Given the description of an element on the screen output the (x, y) to click on. 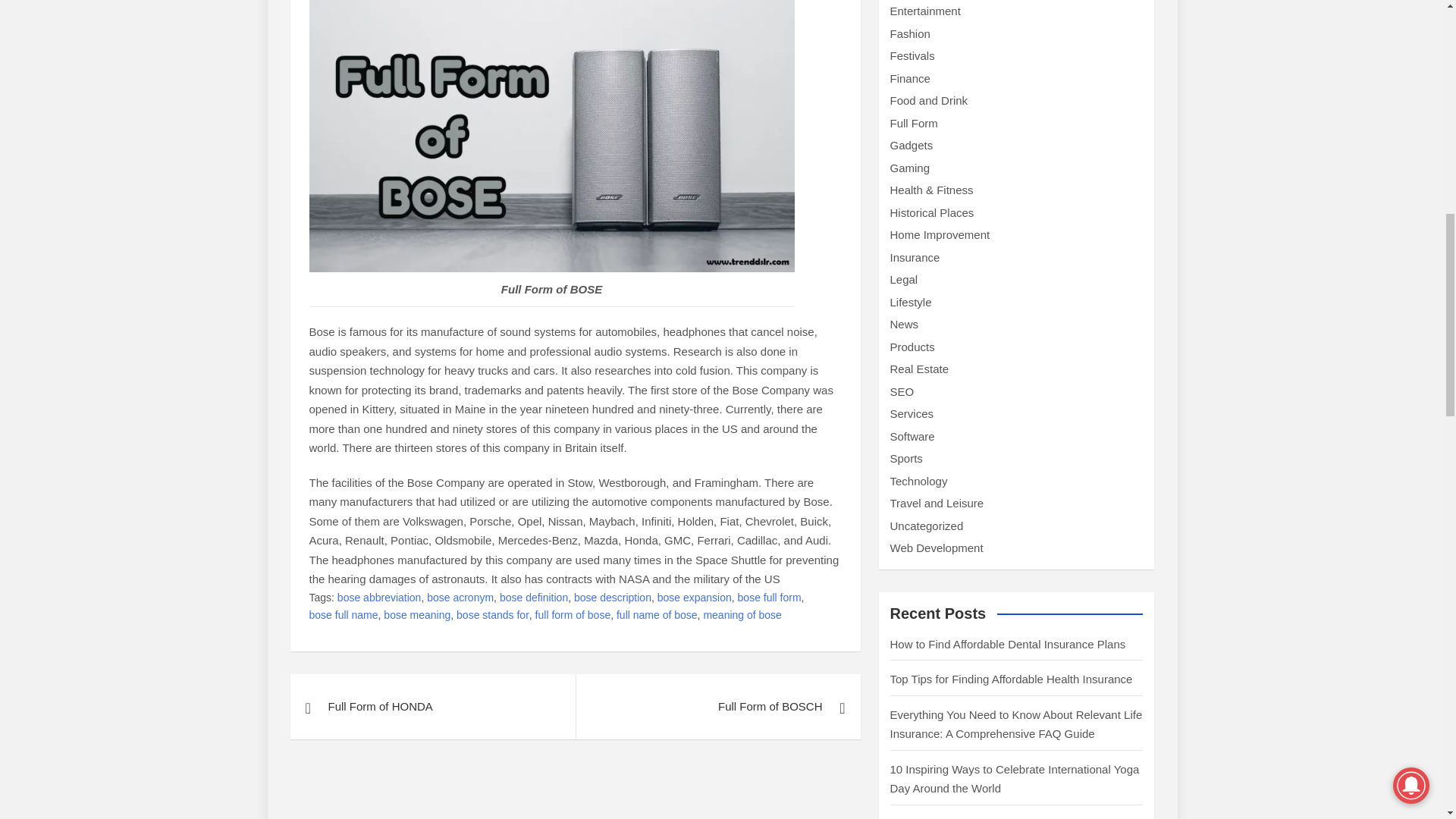
Full Form of HONDA (432, 706)
bose expansion (695, 597)
bose acronym (459, 597)
bose definition (533, 597)
bose description (611, 597)
full name of bose (656, 615)
bose abbreviation (379, 597)
bose full name (343, 615)
bose stands for (493, 615)
bose full form (770, 597)
meaning of bose (742, 615)
full form of bose (573, 615)
bose meaning (416, 615)
